Given the description of an element on the screen output the (x, y) to click on. 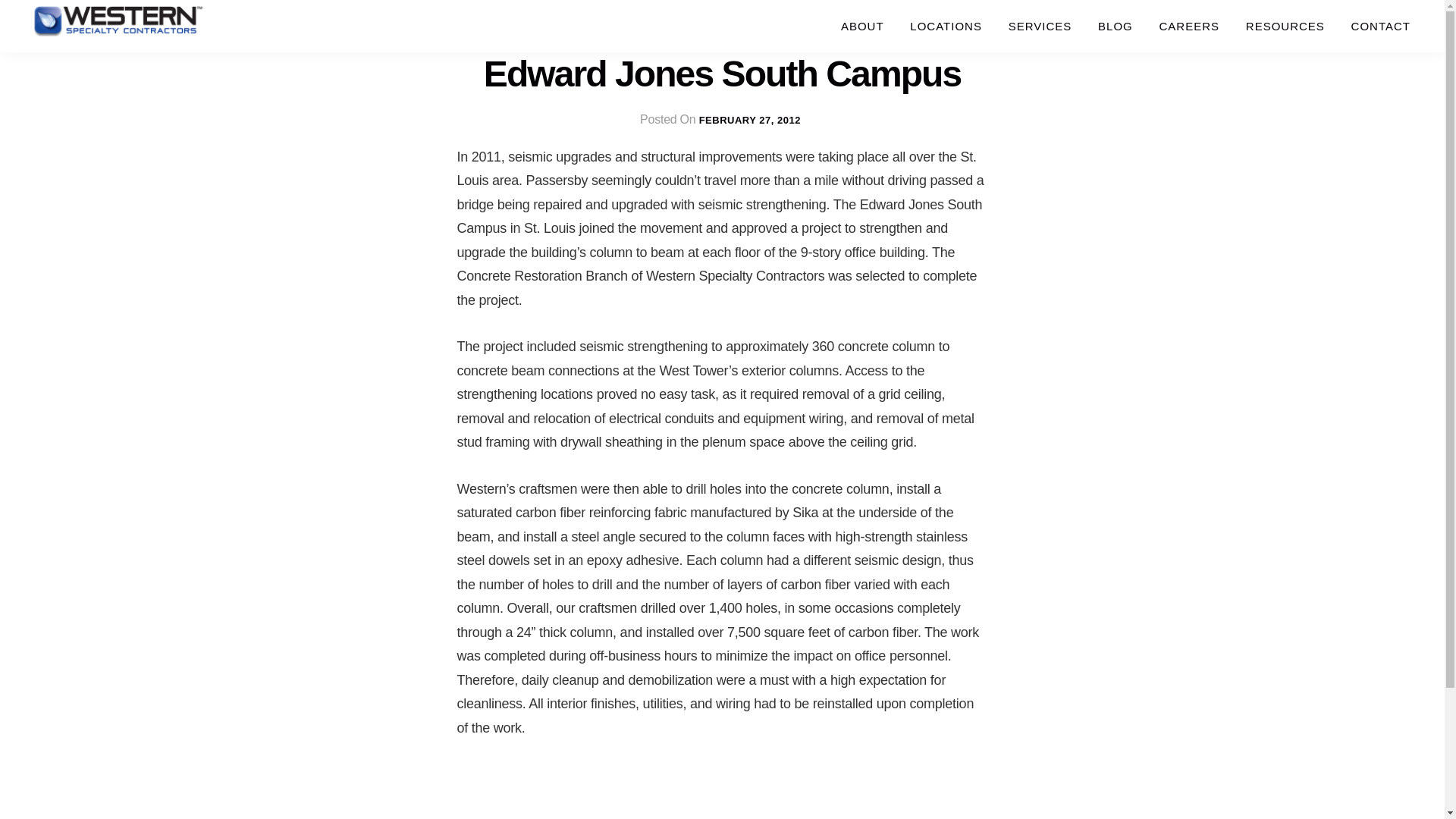
LOCATIONS (945, 25)
CONTACT (1380, 25)
ABOUT (862, 25)
SERVICES (1040, 25)
BLOG (1115, 25)
CAREERS (1189, 25)
RESOURCES (1285, 25)
